Given the description of an element on the screen output the (x, y) to click on. 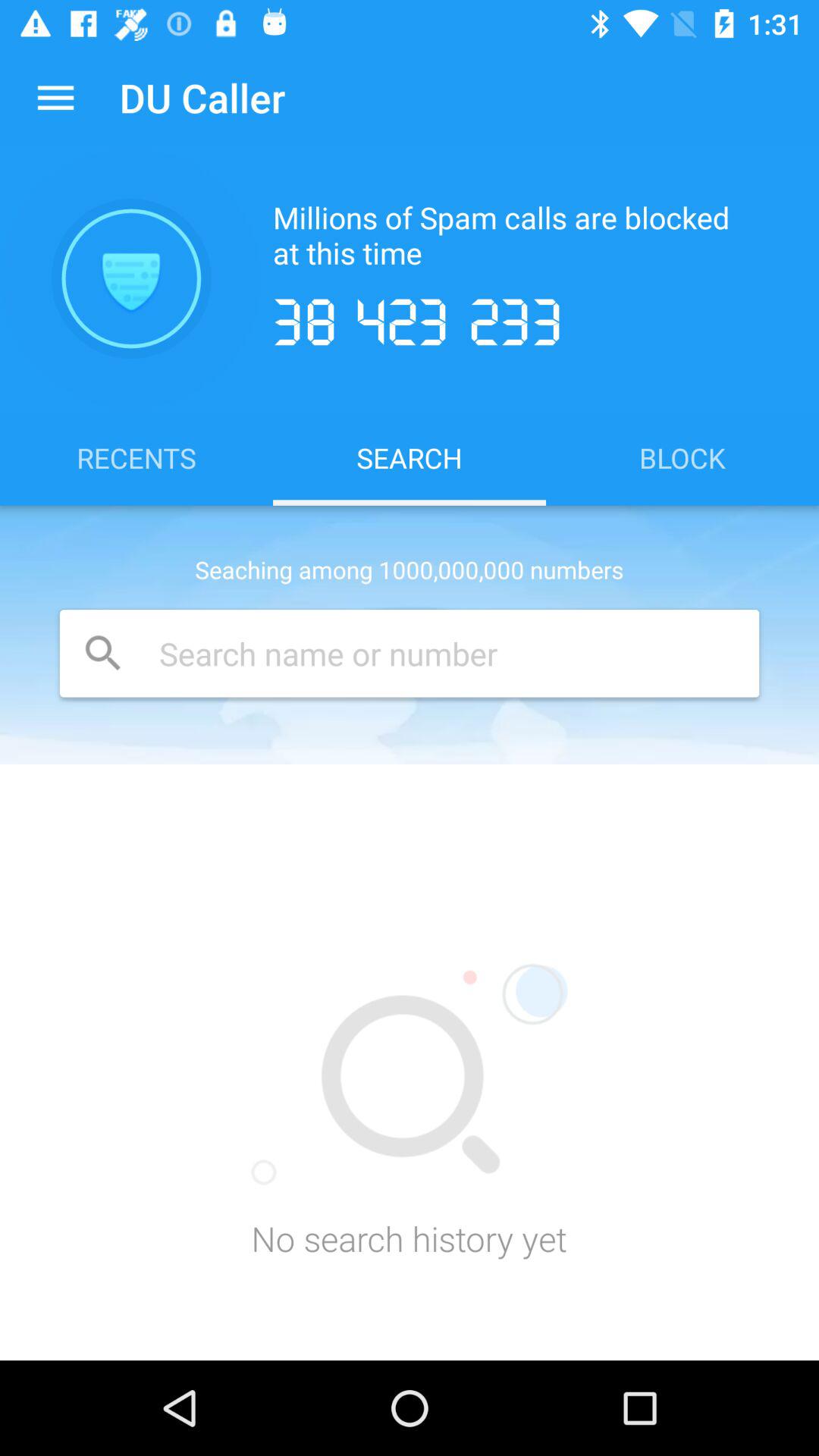
jump to recents (136, 457)
